Given the description of an element on the screen output the (x, y) to click on. 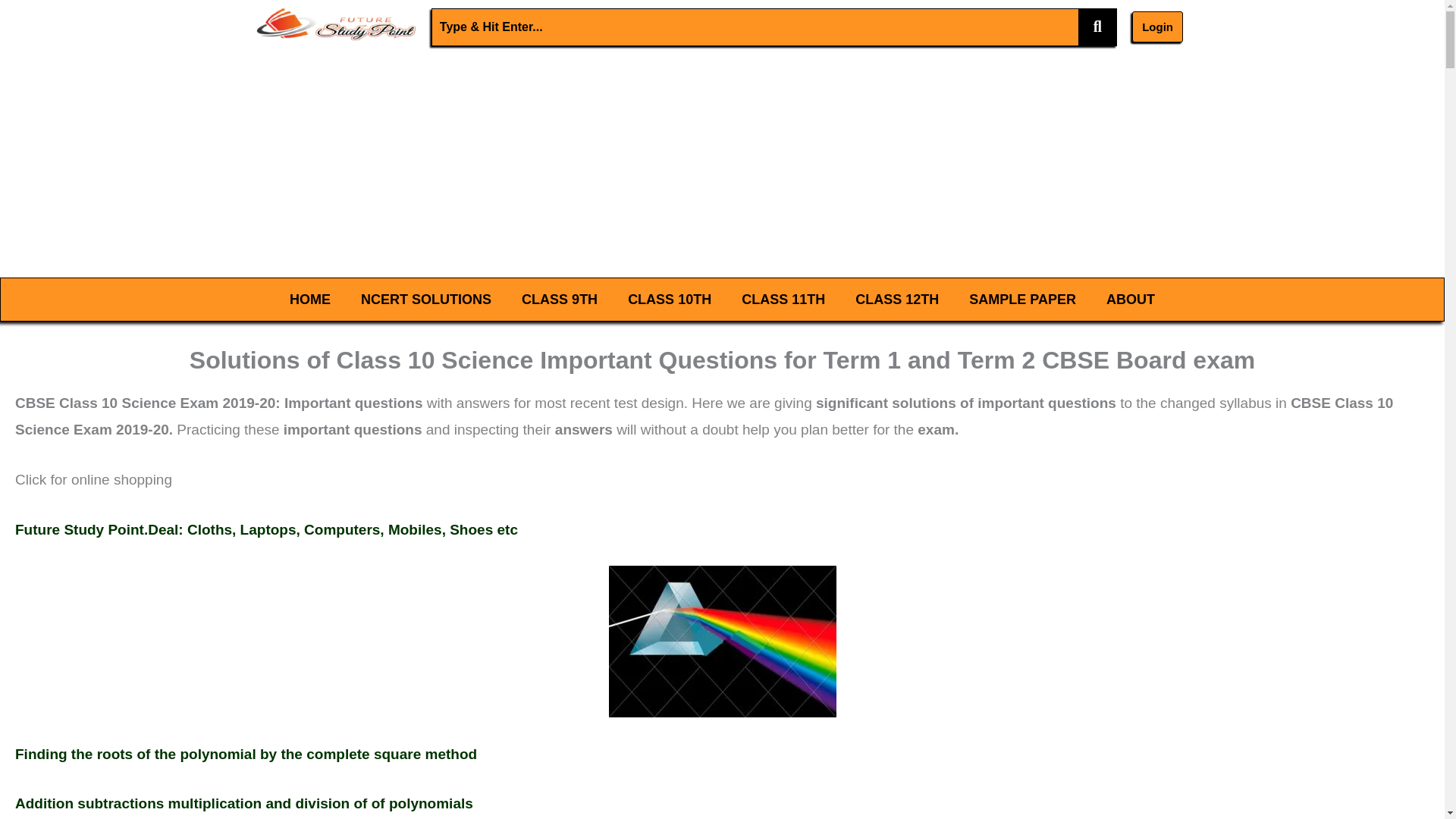
Login (1157, 26)
CLASS 10TH (669, 298)
Search (755, 27)
SAMPLE PAPER (1021, 298)
CLASS 9TH (559, 298)
HOME (310, 298)
NCERT SOLUTIONS (426, 298)
CLASS 12TH (896, 298)
ABOUT (1130, 298)
CLASS 11TH (783, 298)
